Given the description of an element on the screen output the (x, y) to click on. 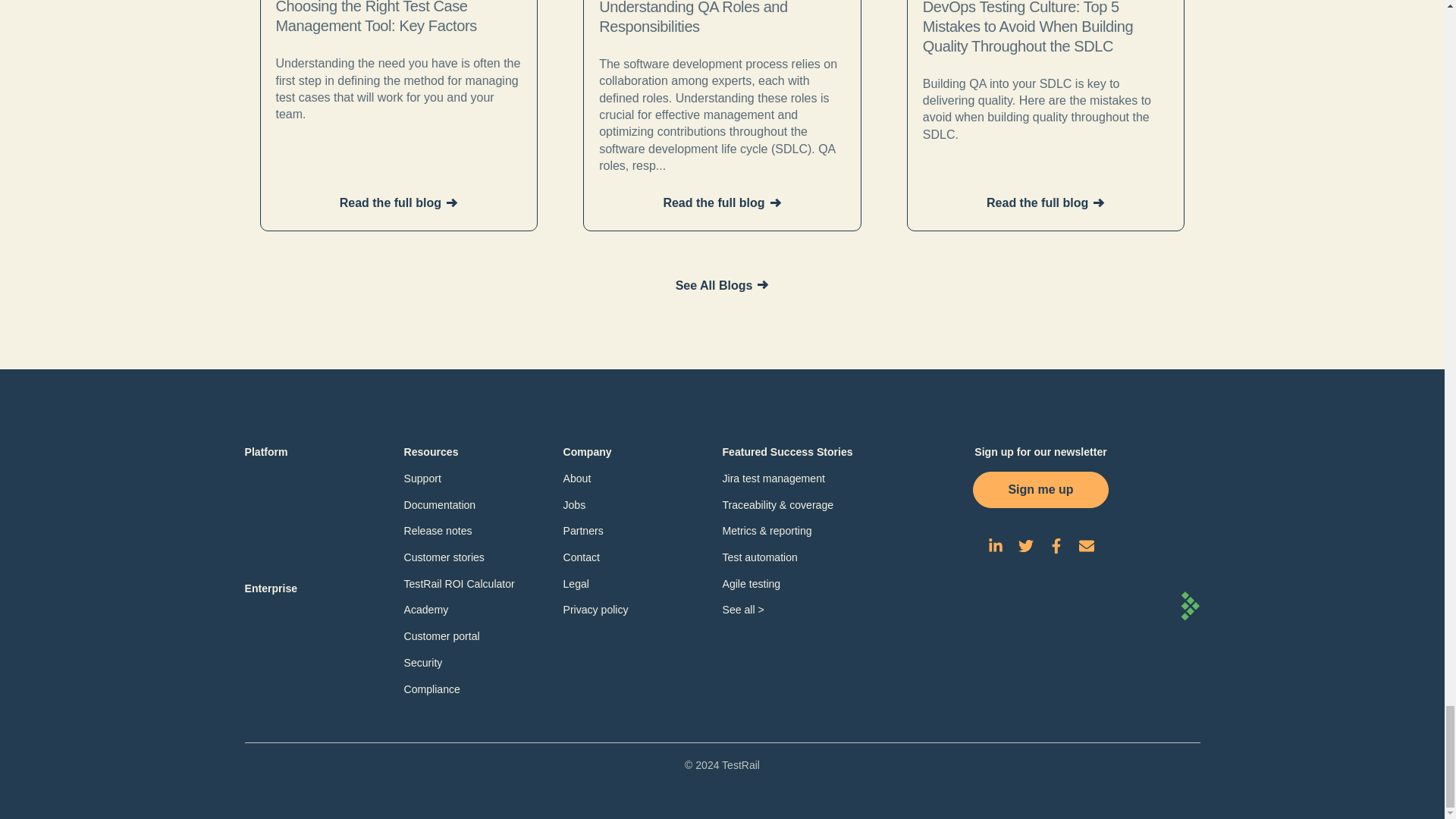
Read the full blog (721, 203)
See All Blogs (722, 285)
Support (422, 478)
Platform (265, 452)
Read the full blog (1046, 203)
Understanding QA Roles and Responsibilities (721, 18)
Read the full blog (398, 203)
Choosing the Right Test Case Management Tool: Key Factors (399, 18)
Enterprise (270, 589)
